Given the description of an element on the screen output the (x, y) to click on. 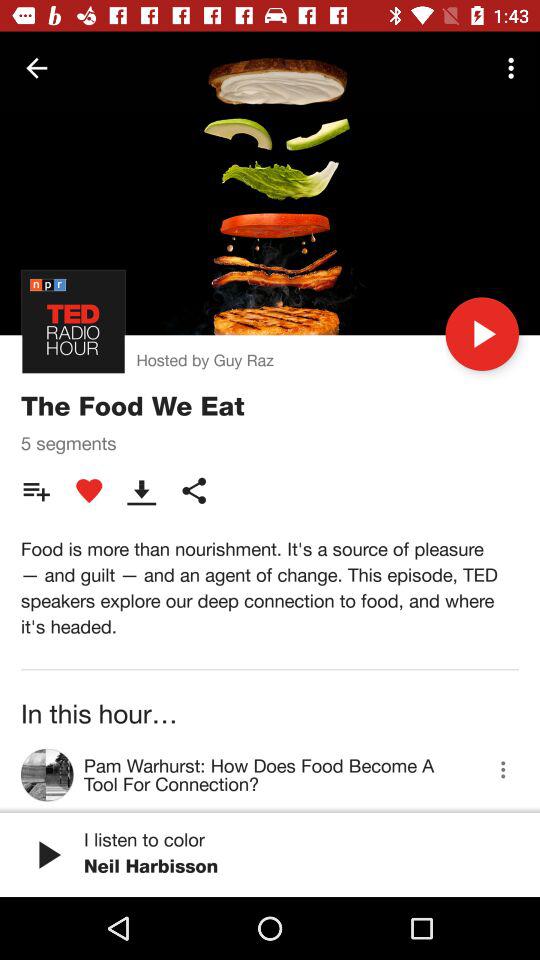
open the icon at the top right corner (513, 67)
